Given the description of an element on the screen output the (x, y) to click on. 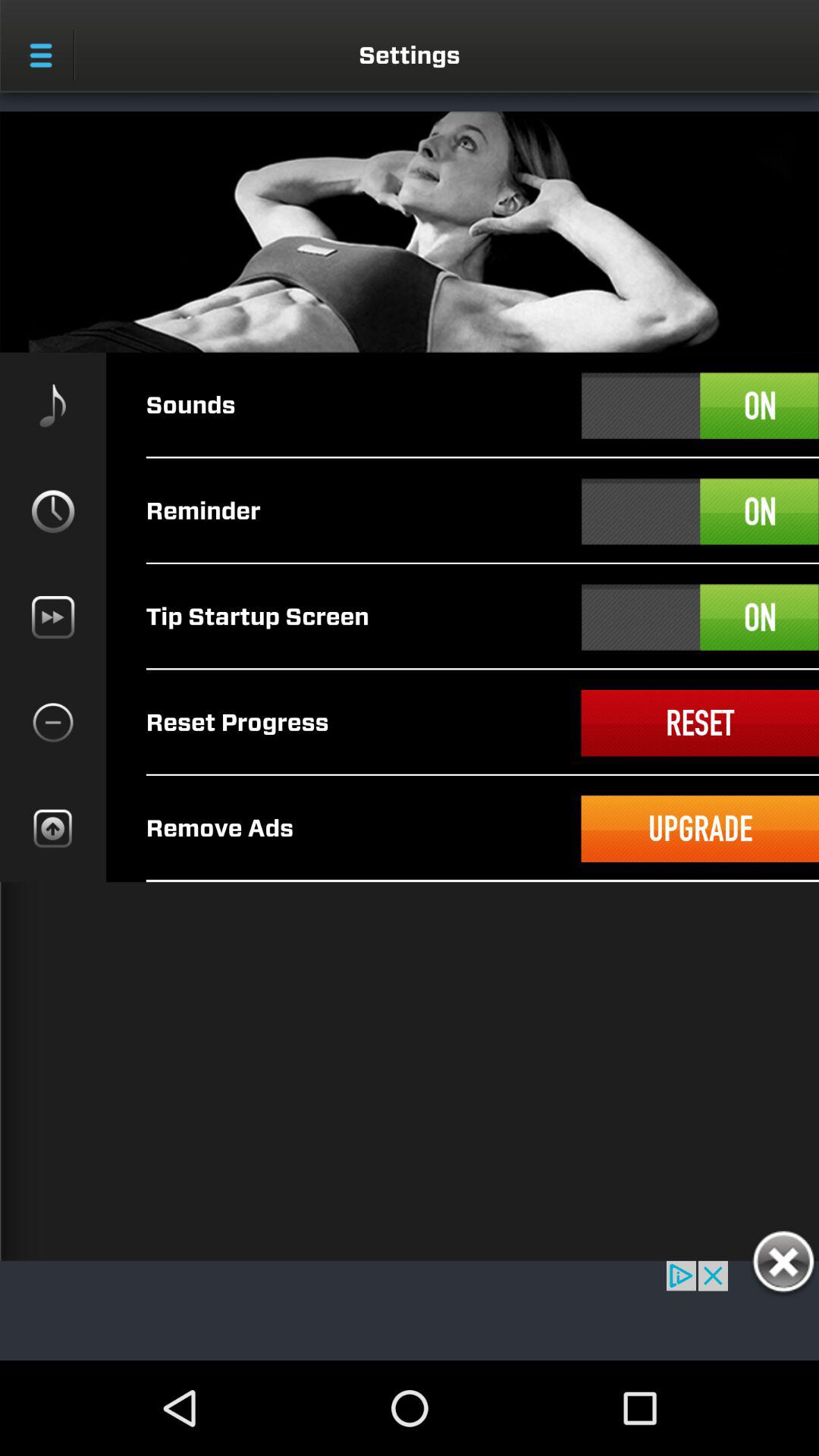
toggle a select option (700, 511)
